Given the description of an element on the screen output the (x, y) to click on. 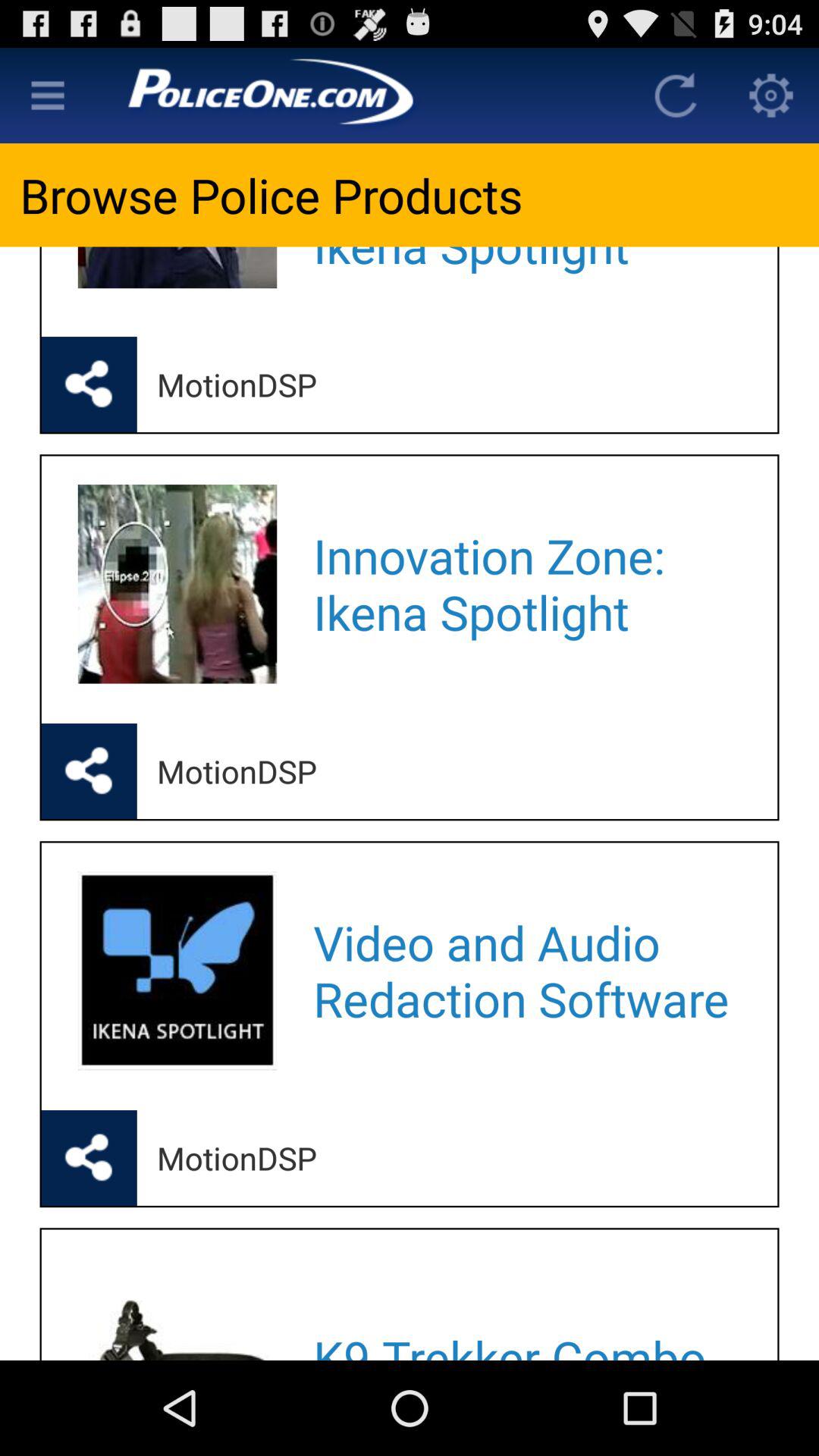
click item above the browse police products (361, 95)
